Given the description of an element on the screen output the (x, y) to click on. 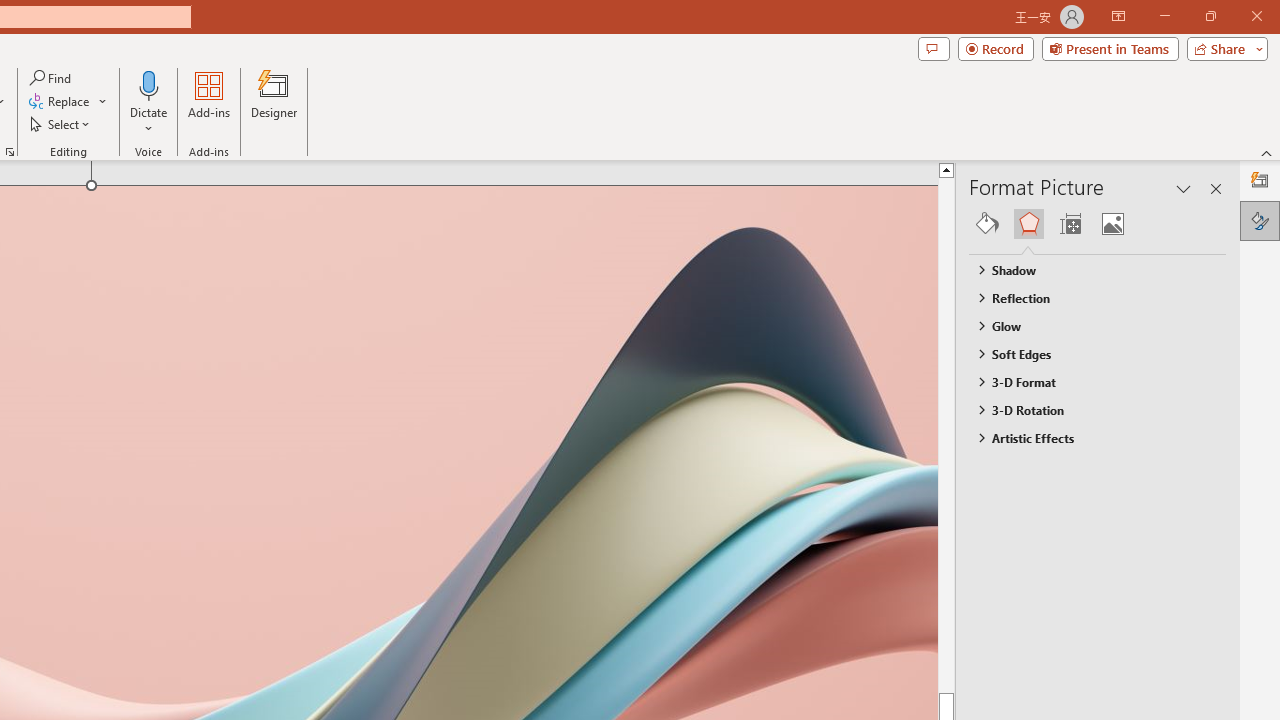
Effects (1028, 223)
Class: NetUIGalleryContainer (1098, 223)
Artistic Effects (1088, 438)
Glow (1088, 325)
3-D Format (1088, 381)
3-D Rotation (1088, 410)
